Given the description of an element on the screen output the (x, y) to click on. 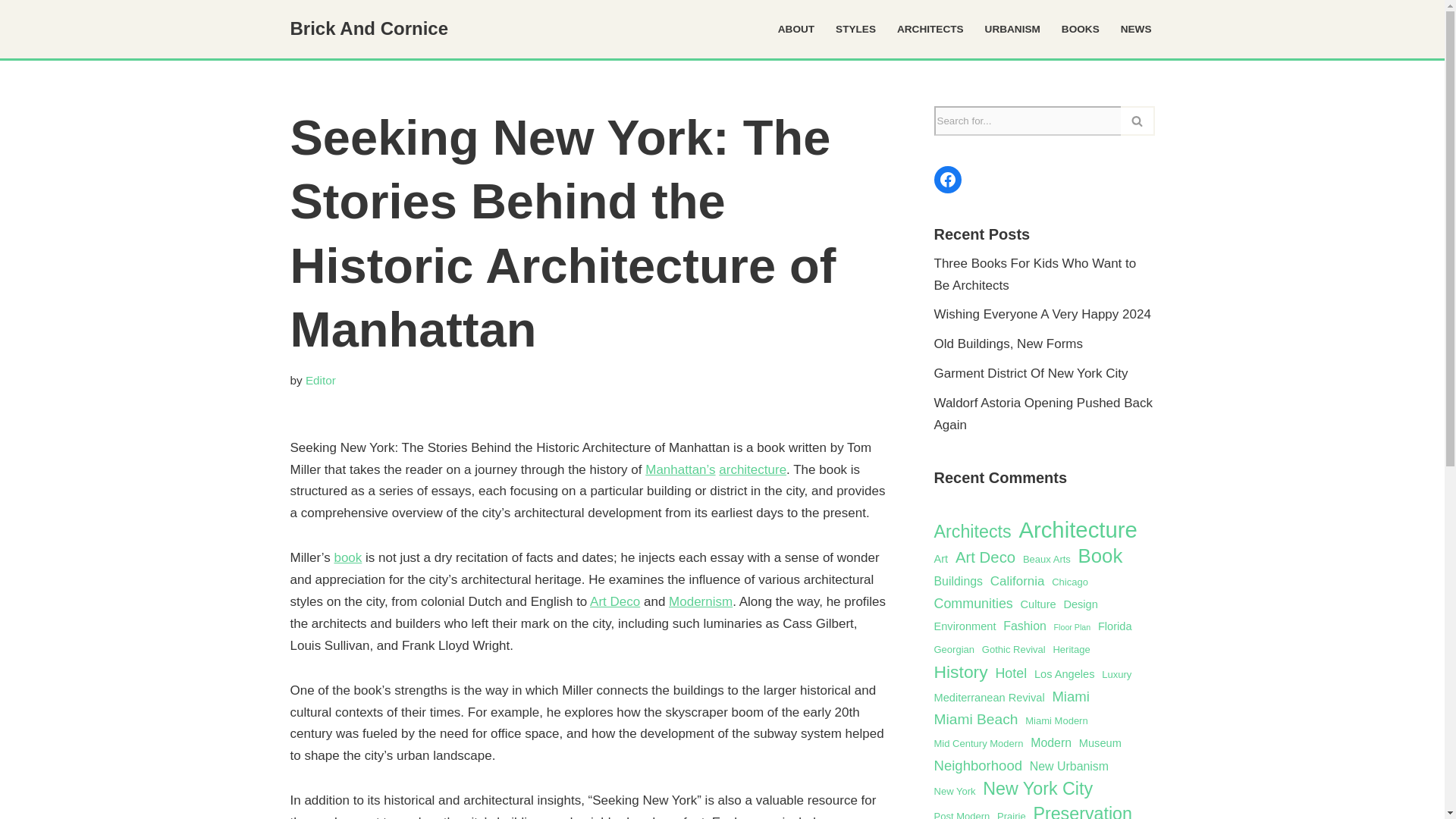
Art Deco (614, 601)
Brick And Cornice (368, 29)
Architects (972, 531)
Wishing Everyone A Very Happy 2024 (1042, 314)
Art Deco (984, 557)
Brick And Cornice (368, 29)
Garment District Of New York City (1031, 373)
ARCHITECTS (929, 28)
Waldorf Astoria Opening Pushed Back Again (1043, 413)
Skip to content (11, 31)
Editor (320, 379)
ABOUT (795, 28)
Three Books For Kids Who Want to Be Architects (1035, 274)
book (347, 557)
Old Buildings, New Forms (1008, 343)
